Given the description of an element on the screen output the (x, y) to click on. 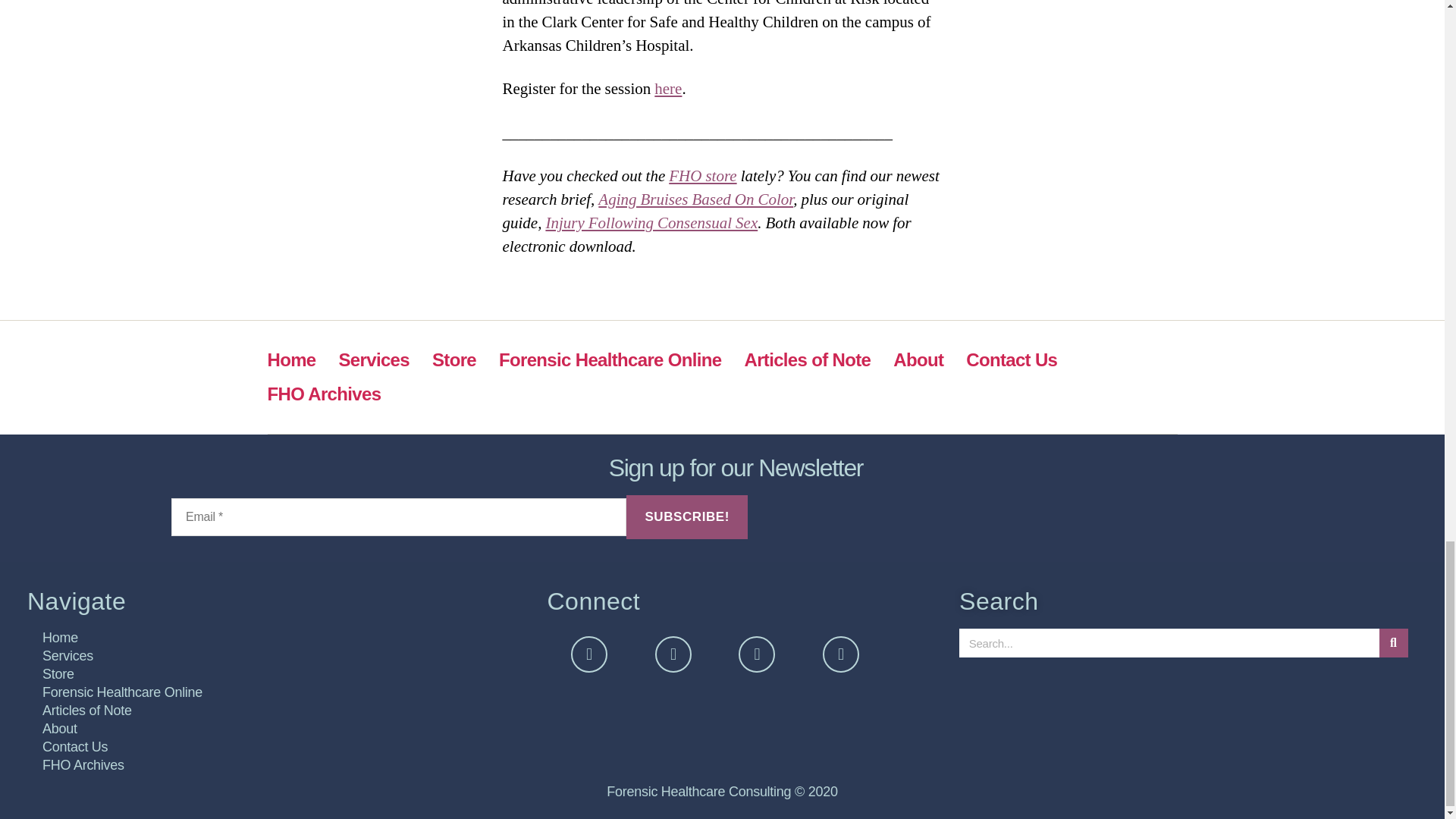
Subscribe! (687, 517)
Home (290, 359)
Home (279, 637)
About (918, 359)
FHO store (702, 176)
Aging Bruises Based On Color (695, 199)
FHO Archives (323, 394)
Services (374, 359)
Subscribe! (687, 517)
Store (454, 359)
